Given the description of an element on the screen output the (x, y) to click on. 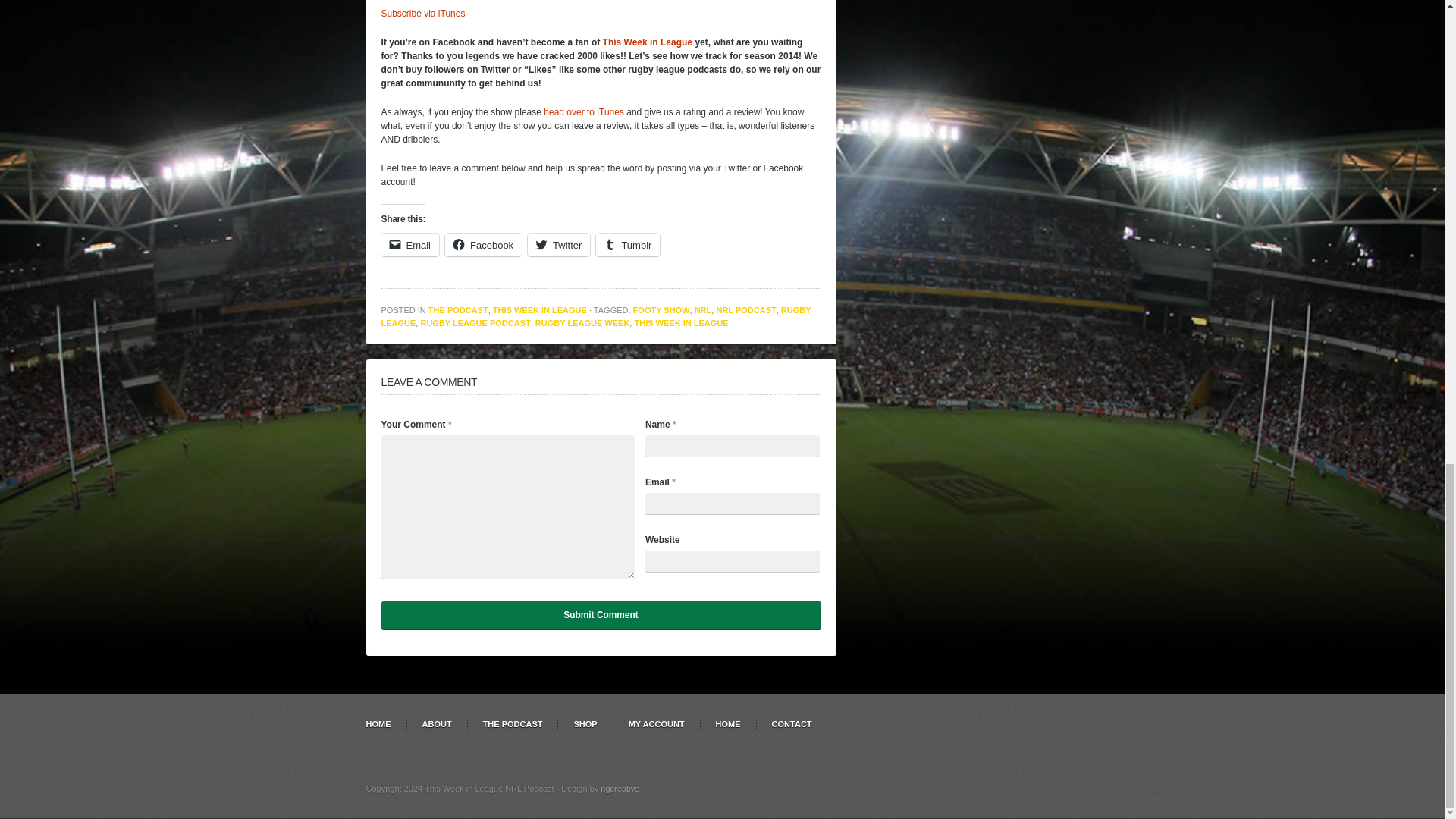
Click to share on Tumblr (627, 244)
Subscribe via iTunes (422, 13)
NRL (702, 309)
head over to iTunes (583, 112)
Submit Comment (600, 615)
Submit Comment (600, 615)
Click to share on Facebook (483, 244)
RUGBY LEAGUE WEEK (581, 322)
Web design Brisbane Australia (619, 788)
Twitter (558, 244)
THE PODCAST (457, 309)
RUGBY LEAGUE PODCAST (474, 322)
This Week in League (647, 41)
Email (409, 244)
NRL PODCAST (746, 309)
